Given the description of an element on the screen output the (x, y) to click on. 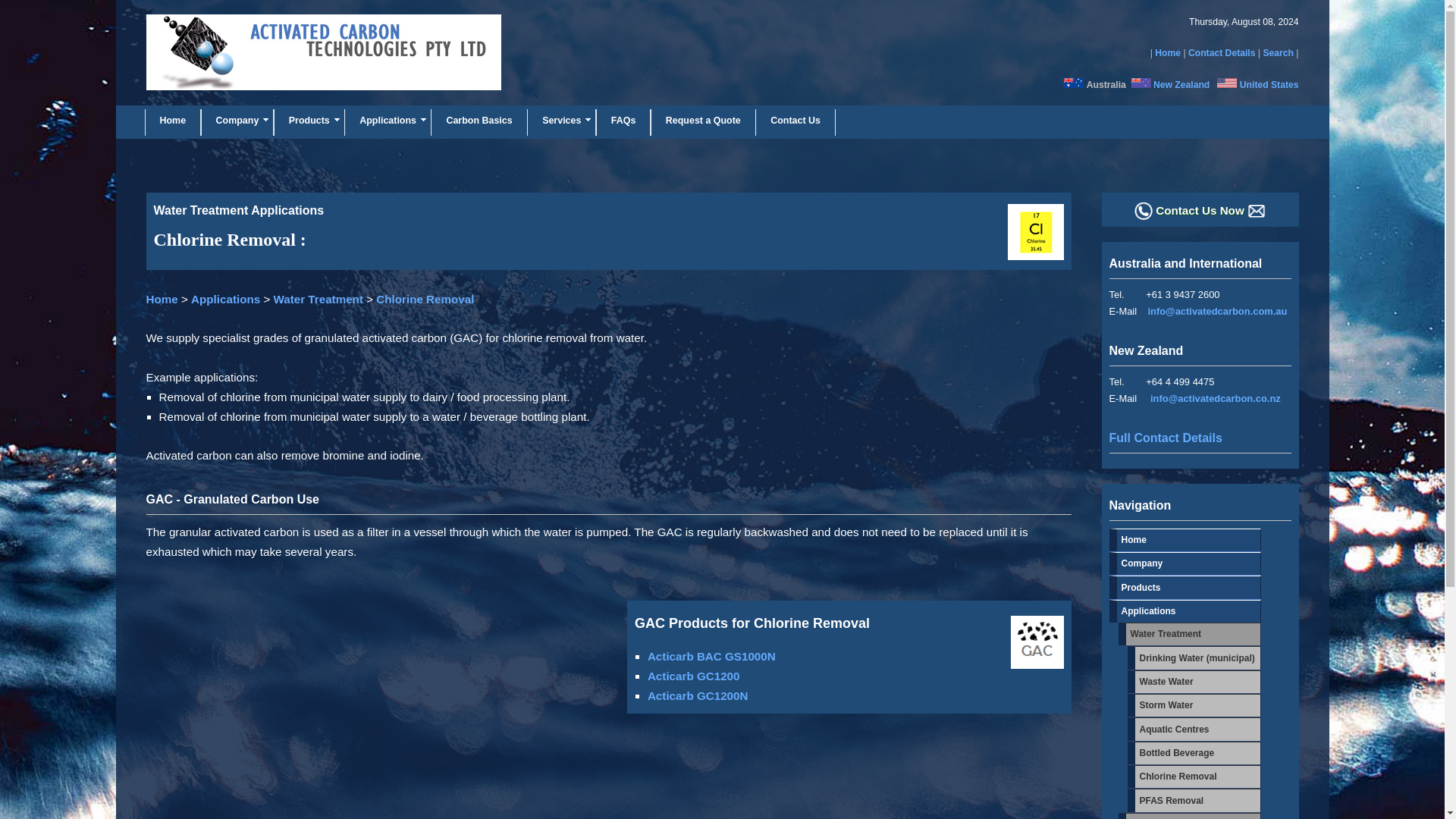
Search (1278, 52)
Home (1167, 52)
Products (309, 122)
Acticarb - US website (1226, 84)
ACT - New Zealand website (1141, 84)
Contact Details (1221, 52)
New Zealand (1181, 84)
Home (172, 122)
ACT - New Zealand website (1181, 84)
You are using the ACT Australia website (1105, 84)
United States (1269, 84)
Acticarb - US website (1269, 84)
Australia (1105, 84)
Company (237, 122)
You are using the ACT Australia website (1073, 84)
